Given the description of an element on the screen output the (x, y) to click on. 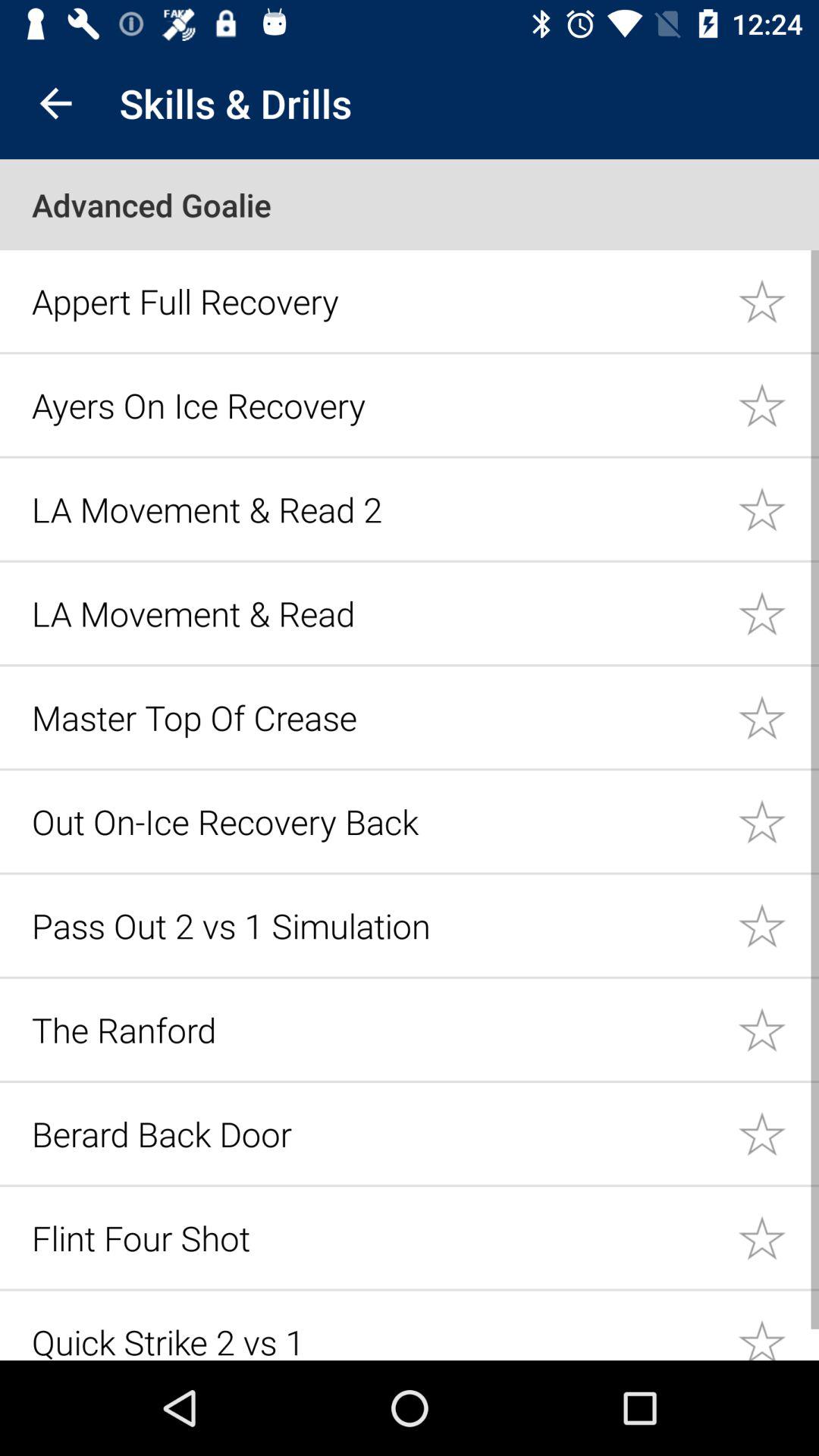
make favorite (778, 1326)
